Given the description of an element on the screen output the (x, y) to click on. 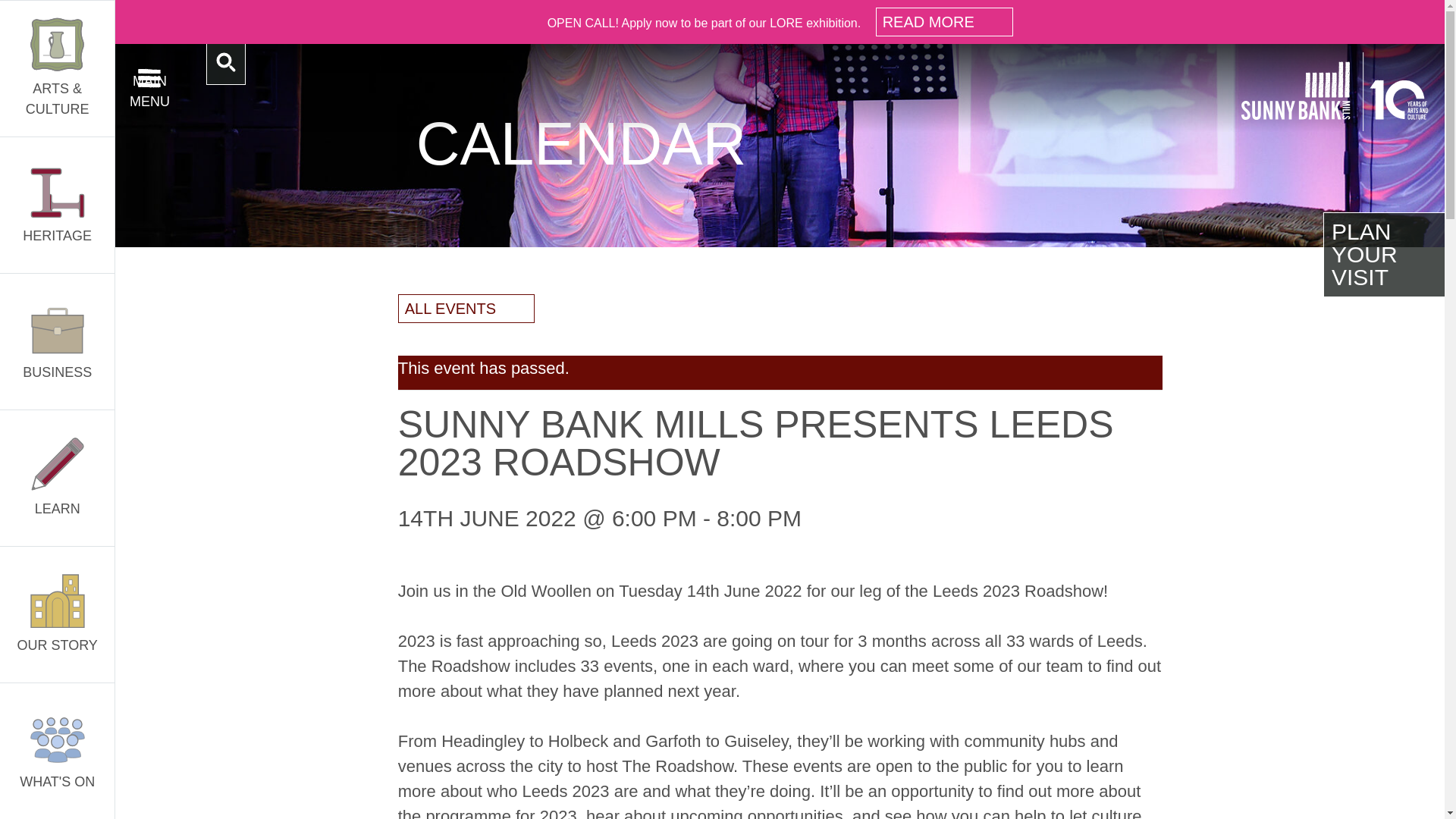
READ MORE (944, 21)
ALL EVENTS (465, 308)
MAIN MENU (149, 78)
